Given the description of an element on the screen output the (x, y) to click on. 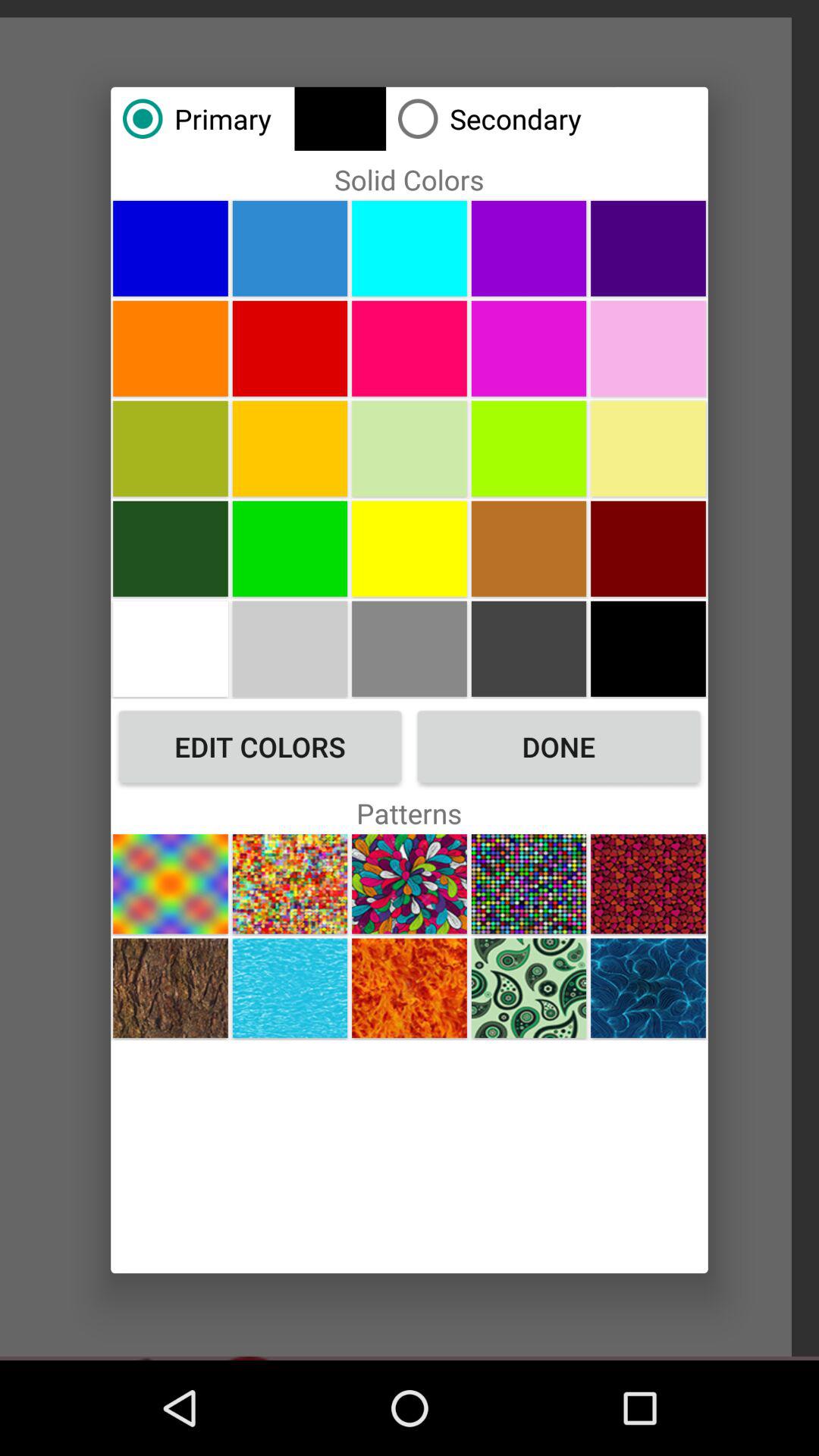
select the item next to edit colors button (558, 746)
